Given the description of an element on the screen output the (x, y) to click on. 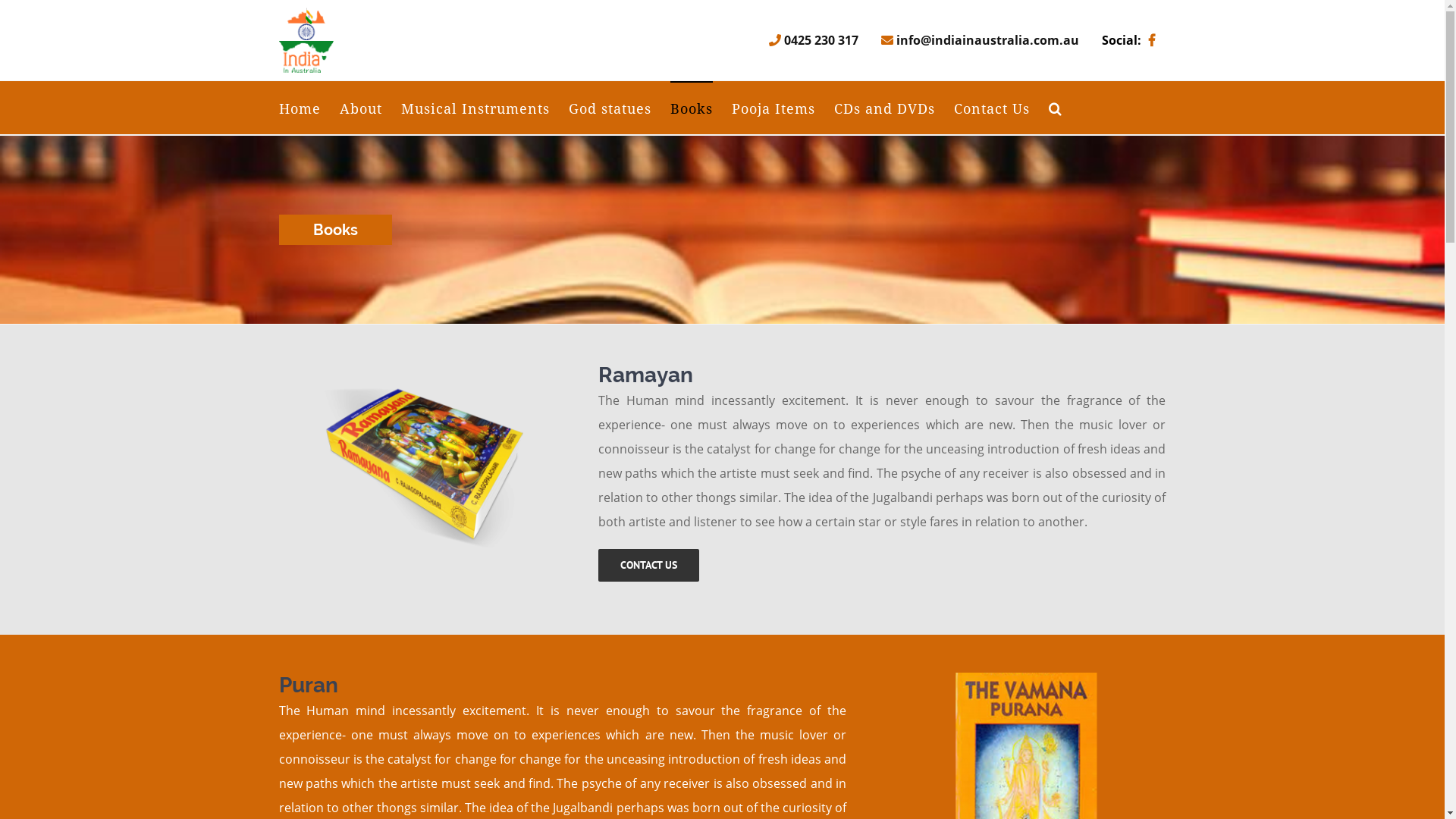
Home Element type: text (299, 107)
About Element type: text (360, 107)
CDs and DVDs Element type: text (884, 107)
0425 230 317 Element type: text (813, 40)
CONTACT US Element type: text (648, 565)
Search Element type: hover (1054, 107)
Books Element type: text (691, 107)
info@indiainaustralia.com.au Element type: text (980, 40)
Musical Instruments Element type: text (474, 107)
Pooja Items Element type: text (772, 107)
Contact Us Element type: text (991, 107)
God statues Element type: text (609, 107)
Ramayana Element type: hover (420, 468)
